Given the description of an element on the screen output the (x, y) to click on. 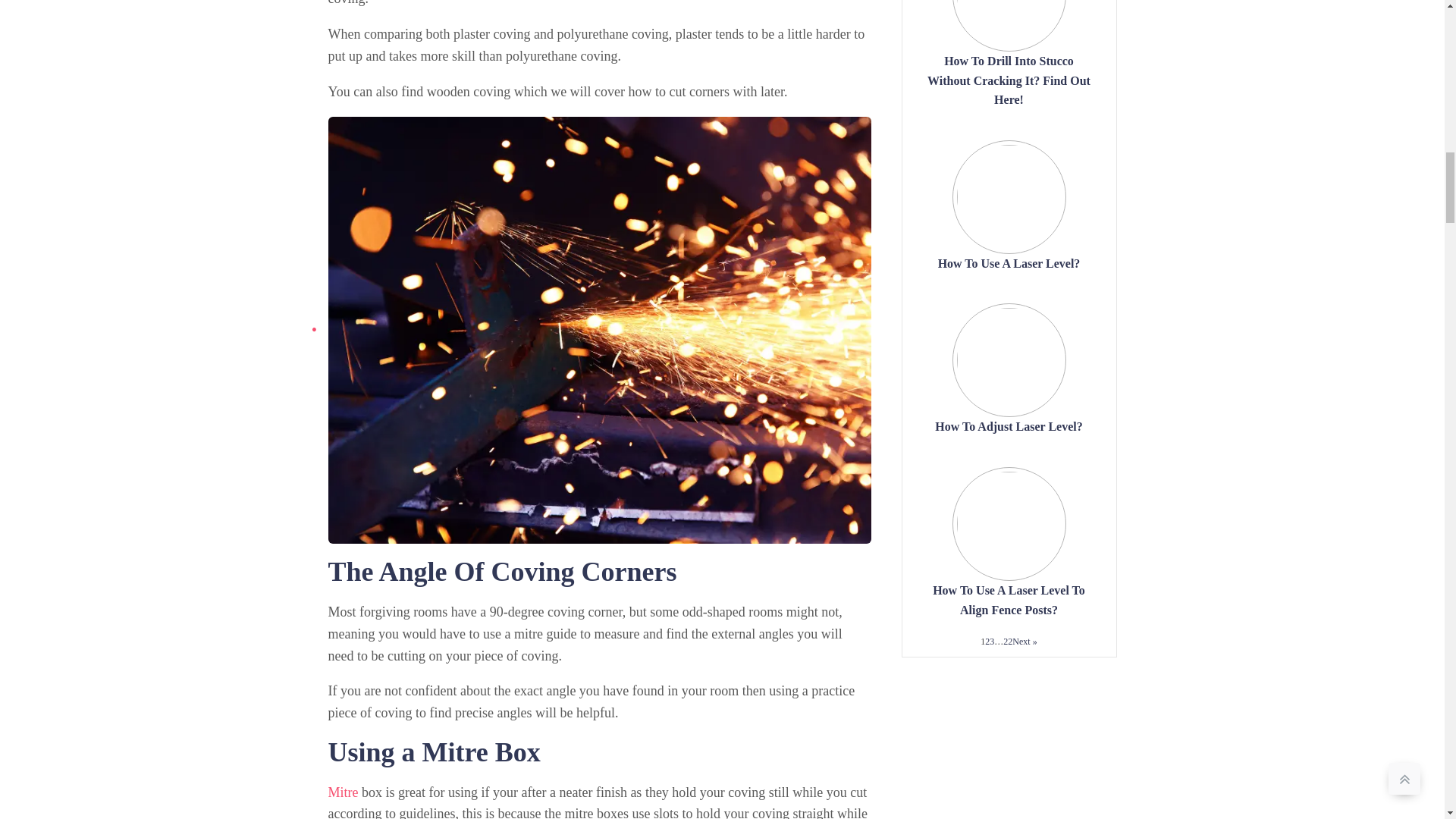
Mitre (342, 792)
How To Use A Laser Level? (1008, 263)
How To Drill Into Stucco Without Cracking It? Find Out Here! (1008, 80)
How To Use A Laser Level To Align Fence Posts? (1008, 599)
How To Adjust Laser Level? (1007, 426)
